Given the description of an element on the screen output the (x, y) to click on. 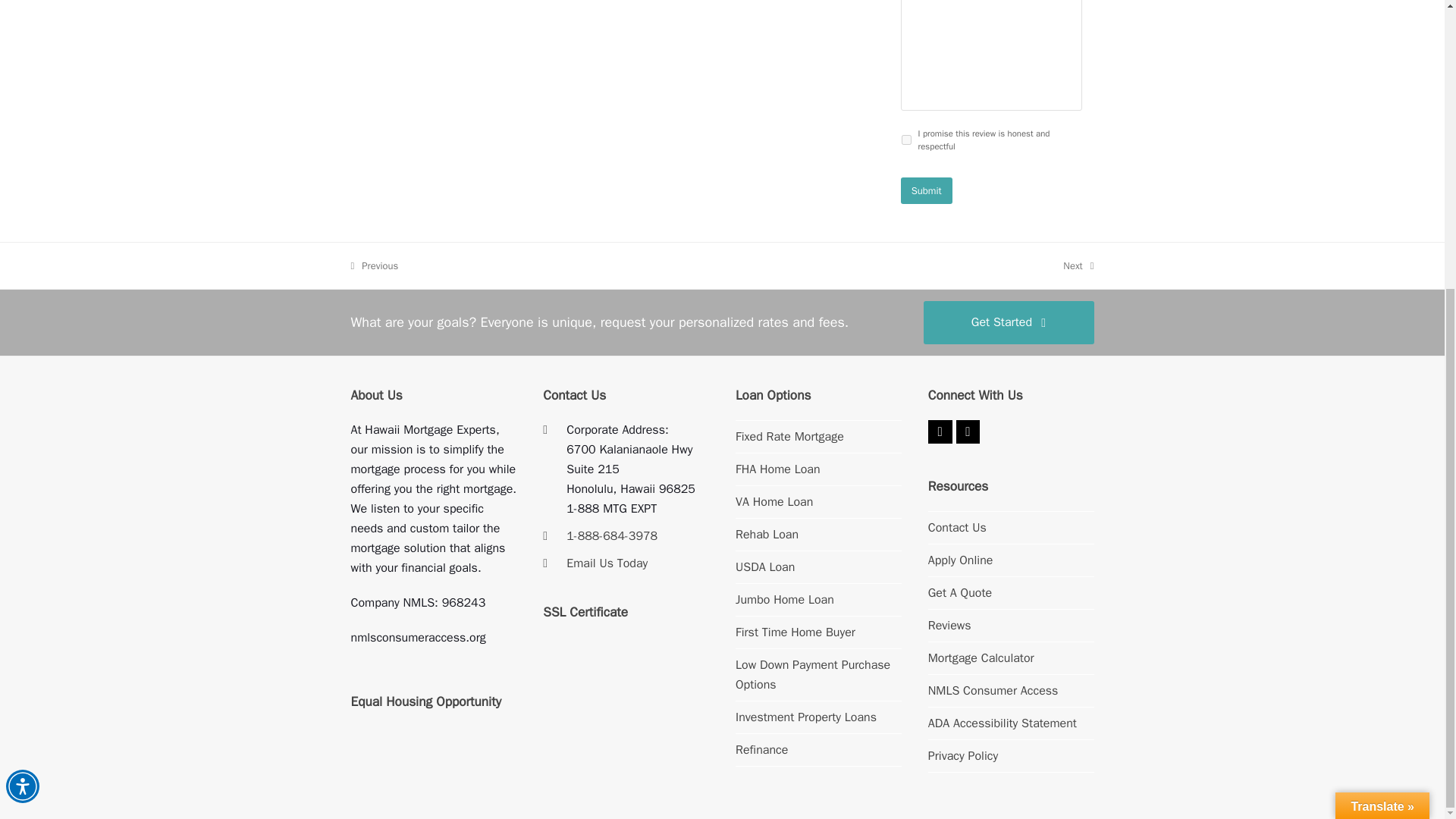
Accessibility Menu (22, 348)
USDA Loan (764, 566)
VA Home Loan (773, 501)
Get Started (1008, 322)
First Time Home Buyer (795, 631)
Submit (926, 190)
Fixed Rate Mortgage (789, 436)
I promise this review is honest and respectful (906, 139)
Email Us Today (606, 563)
Apply Online (960, 560)
Jumbo Home Loan (784, 599)
1-888-684-3978 (1077, 265)
Instagram (612, 535)
FHA Home Loan (967, 432)
